Given the description of an element on the screen output the (x, y) to click on. 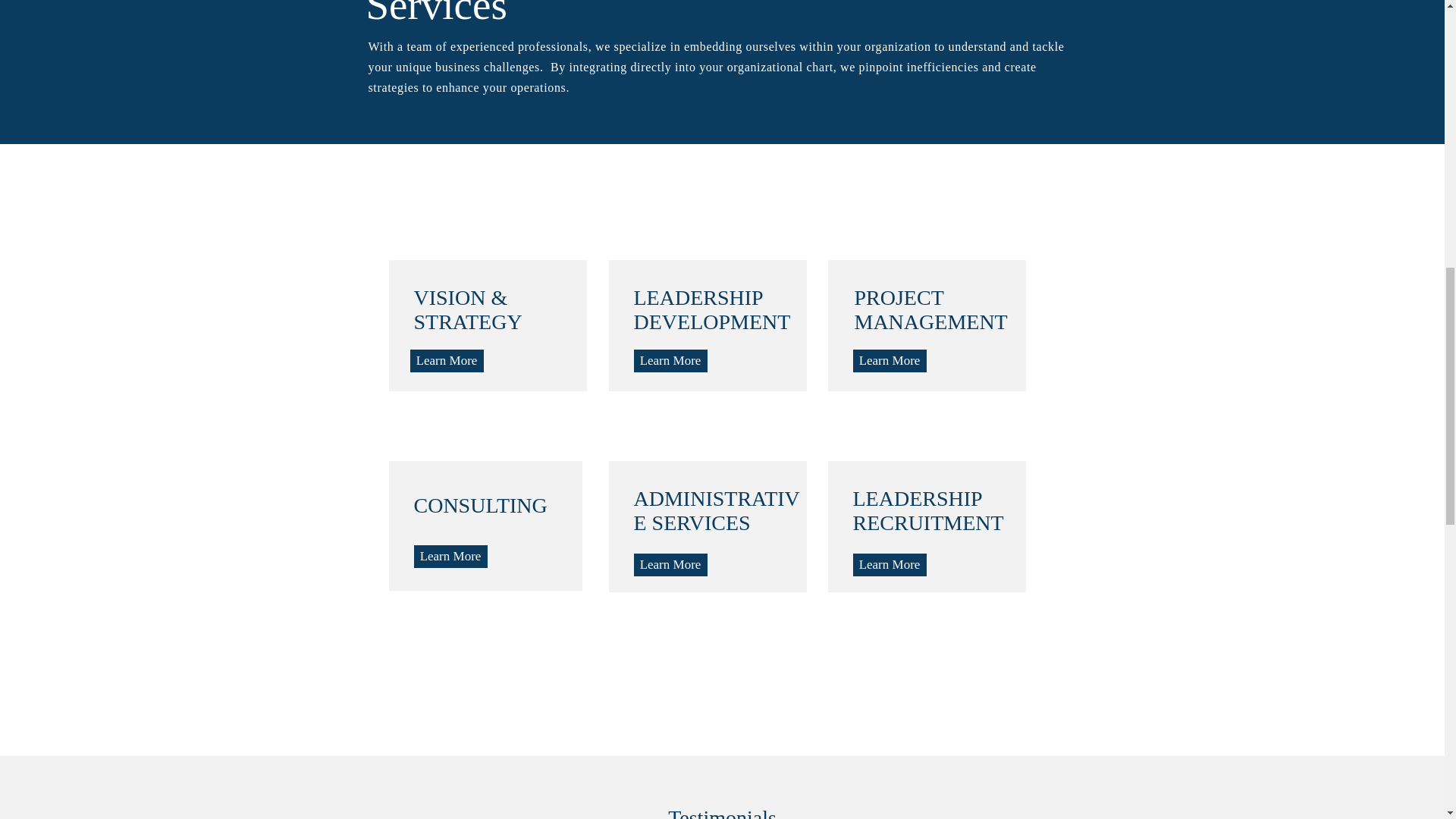
Learn More (670, 360)
Learn More (670, 564)
Learn More (446, 360)
Learn More (888, 564)
Learn More (450, 556)
Learn More (888, 360)
